Given the description of an element on the screen output the (x, y) to click on. 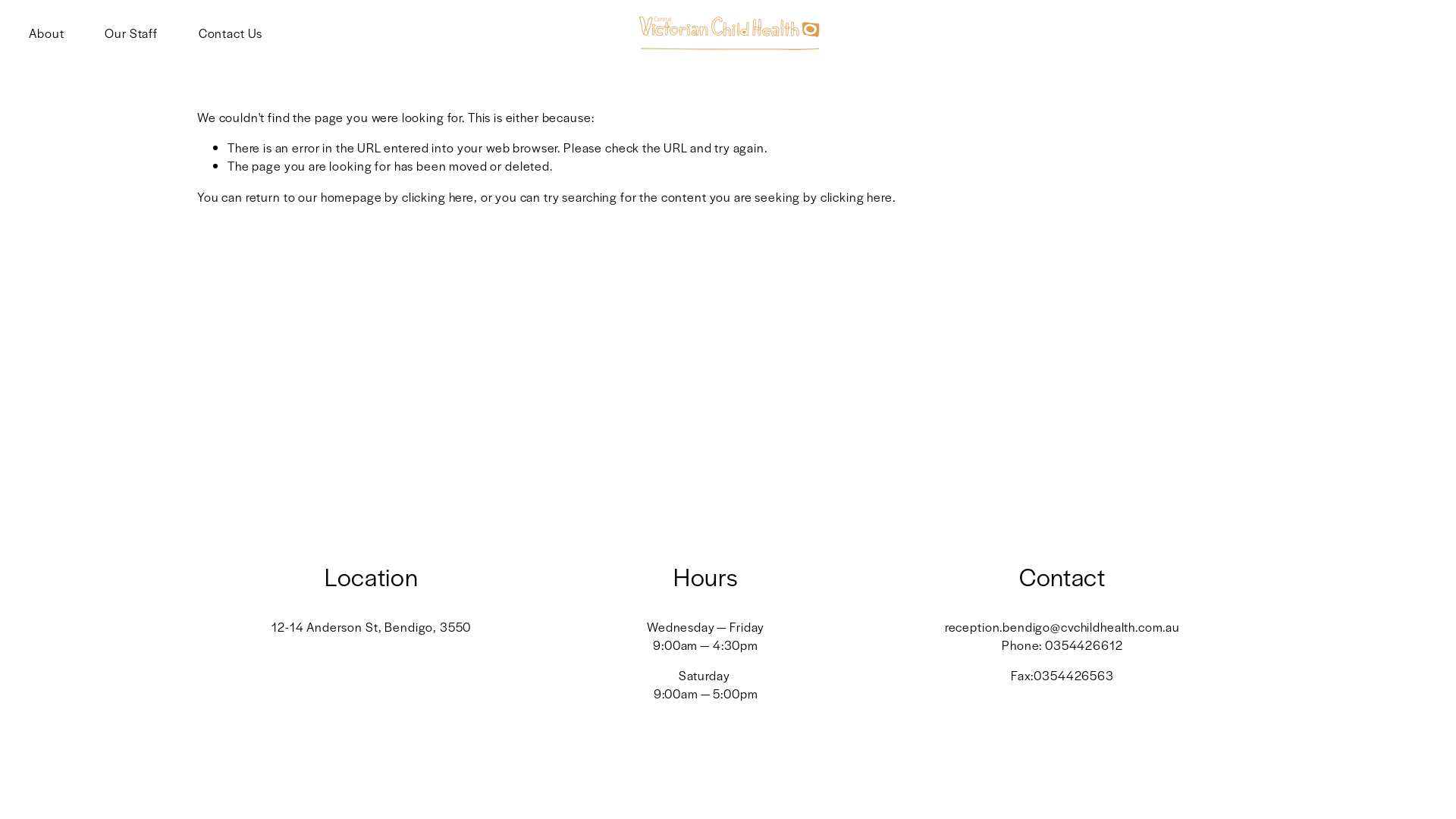
clicking here Element type: text (856, 196)
About Element type: text (45, 32)
clicking here Element type: text (437, 196)
Our Staff Element type: text (130, 32)
Contact Us Element type: text (230, 32)
